Given the description of an element on the screen output the (x, y) to click on. 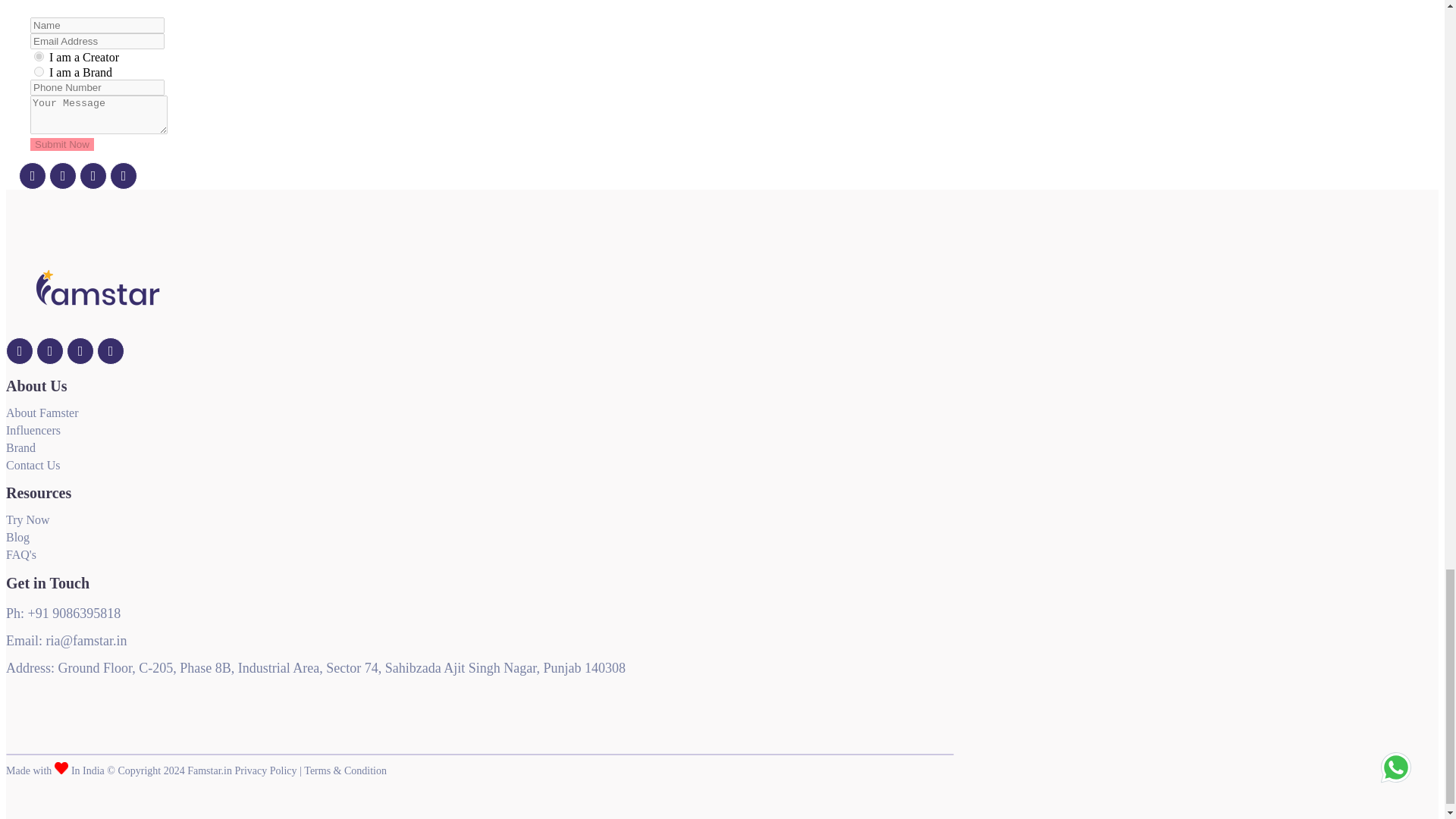
Privacy Policy (265, 770)
Submit Now (62, 144)
FAQ's (20, 554)
Contact Us (33, 464)
Brand (19, 447)
Brand (38, 71)
Blog (17, 536)
Influencer (38, 56)
Influencers (33, 430)
About Famster (41, 412)
Try Now (27, 519)
Submit Now (62, 144)
